Given the description of an element on the screen output the (x, y) to click on. 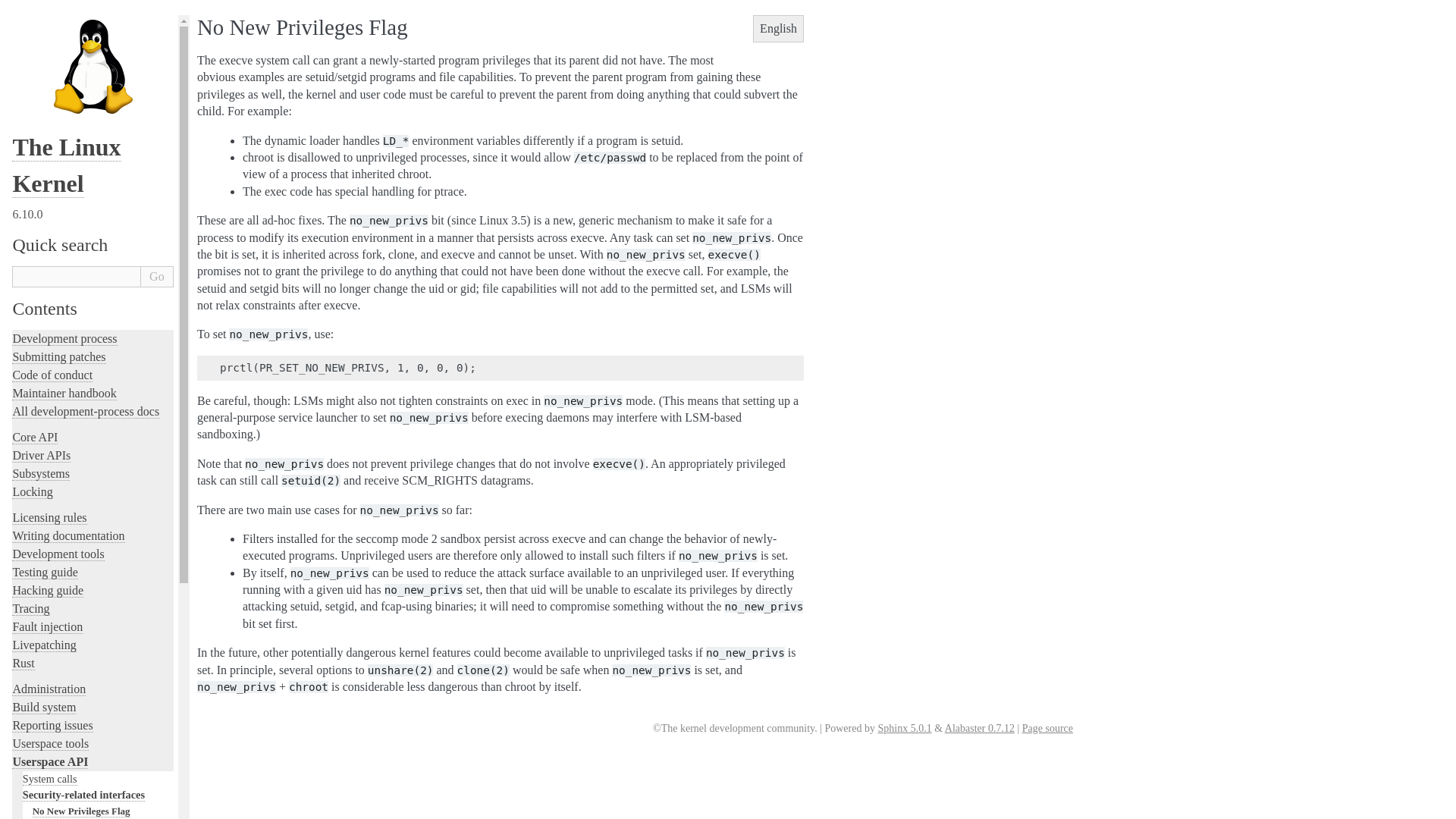
Hacking guide (46, 590)
Writing documentation (67, 535)
Build system (43, 707)
Locking (31, 491)
All development-process docs (84, 411)
Licensing rules (48, 517)
Tracing (30, 608)
Testing guide (44, 572)
Rust (22, 663)
Development tools (57, 554)
Fault injection (46, 626)
Core API (34, 437)
Development process (63, 338)
The Linux Kernel (65, 165)
Driver APIs (40, 455)
